Given the description of an element on the screen output the (x, y) to click on. 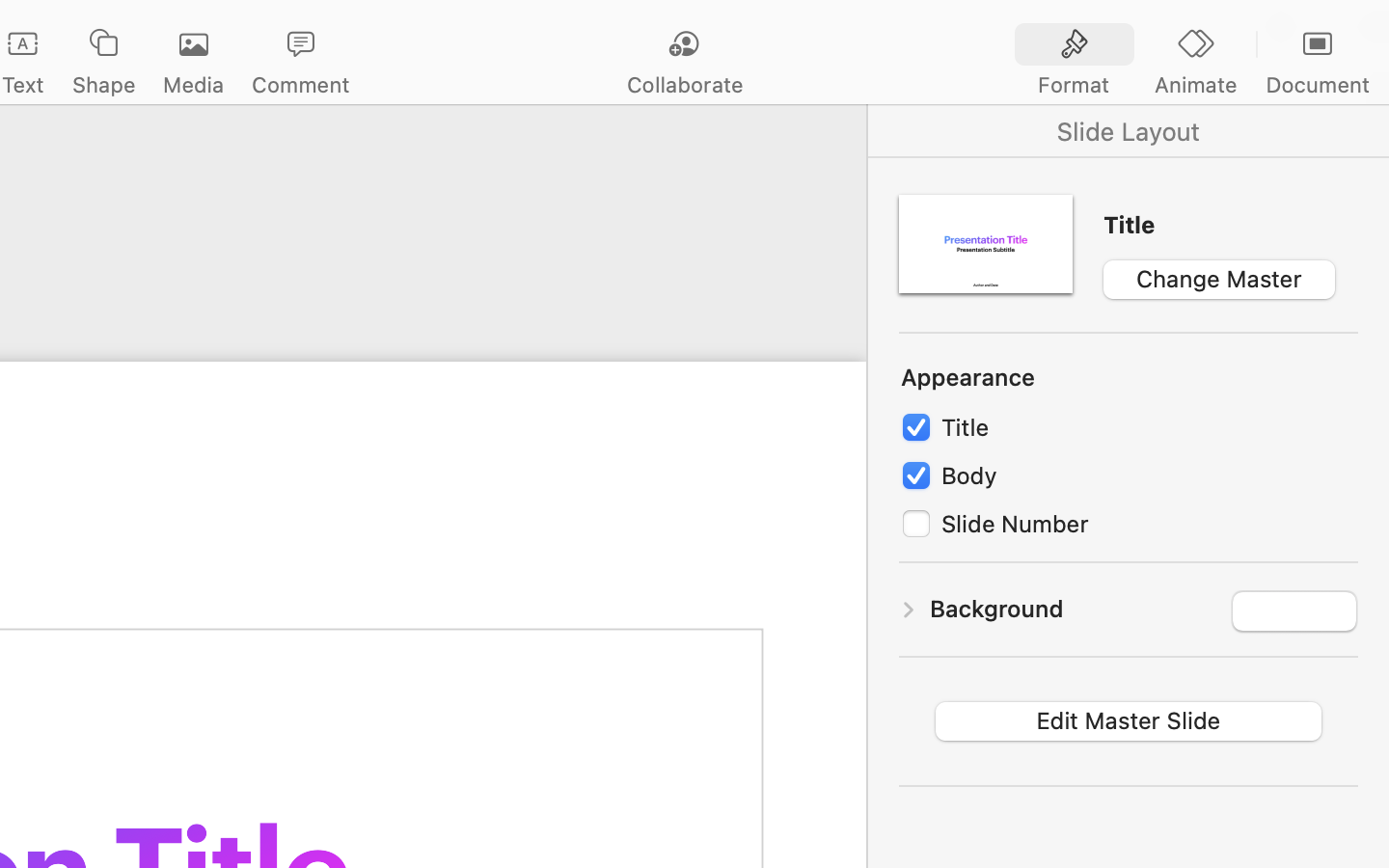
Appearance Element type: AXStaticText (968, 378)
Untitled Element type: AXStaticText (133, 24)
